Given the description of an element on the screen output the (x, y) to click on. 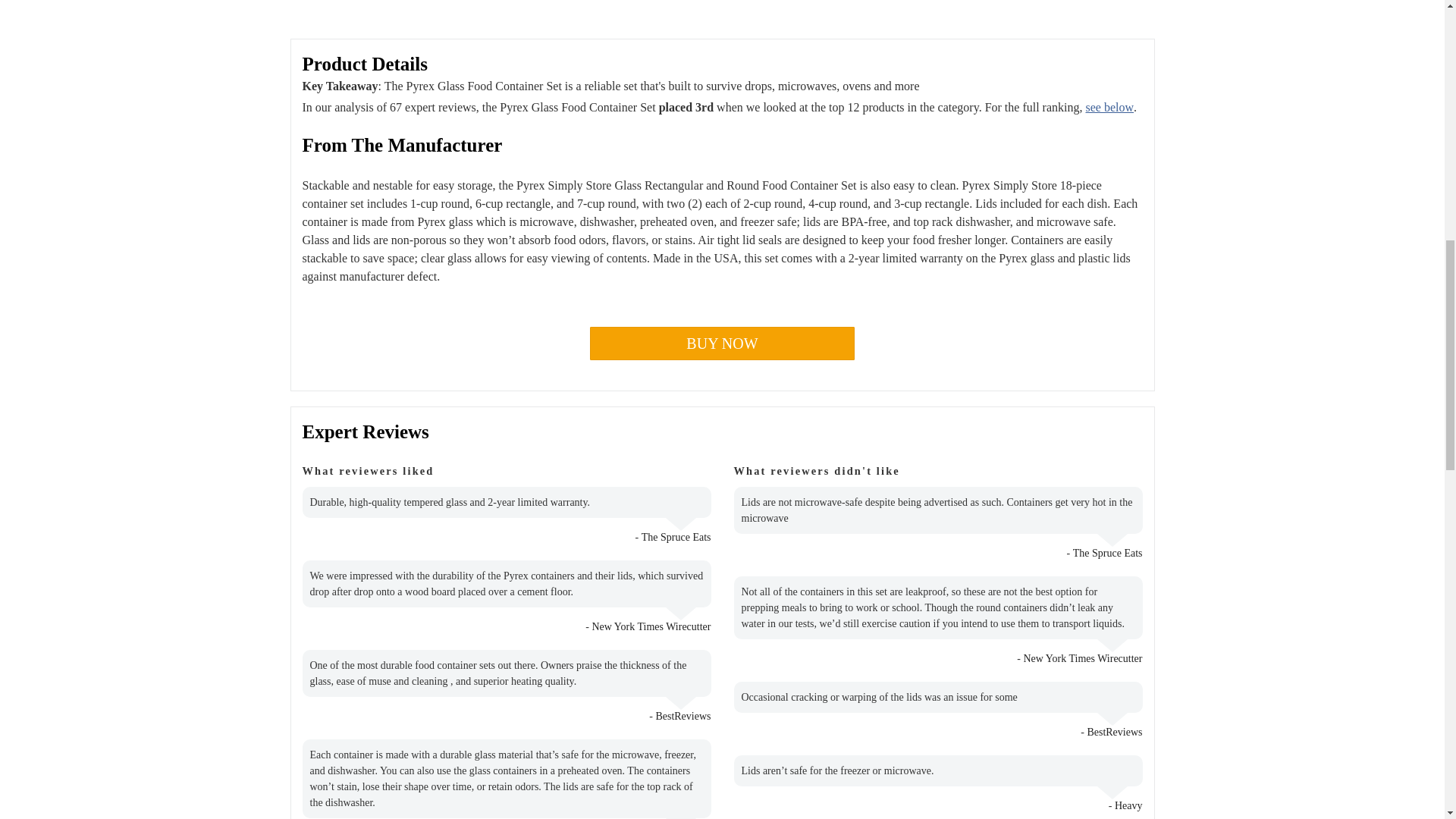
BestReviews (682, 715)
BUY NOW (721, 343)
see below (1110, 106)
The Spruce Eats (676, 536)
New York Times Wirecutter (650, 626)
